Given the description of an element on the screen output the (x, y) to click on. 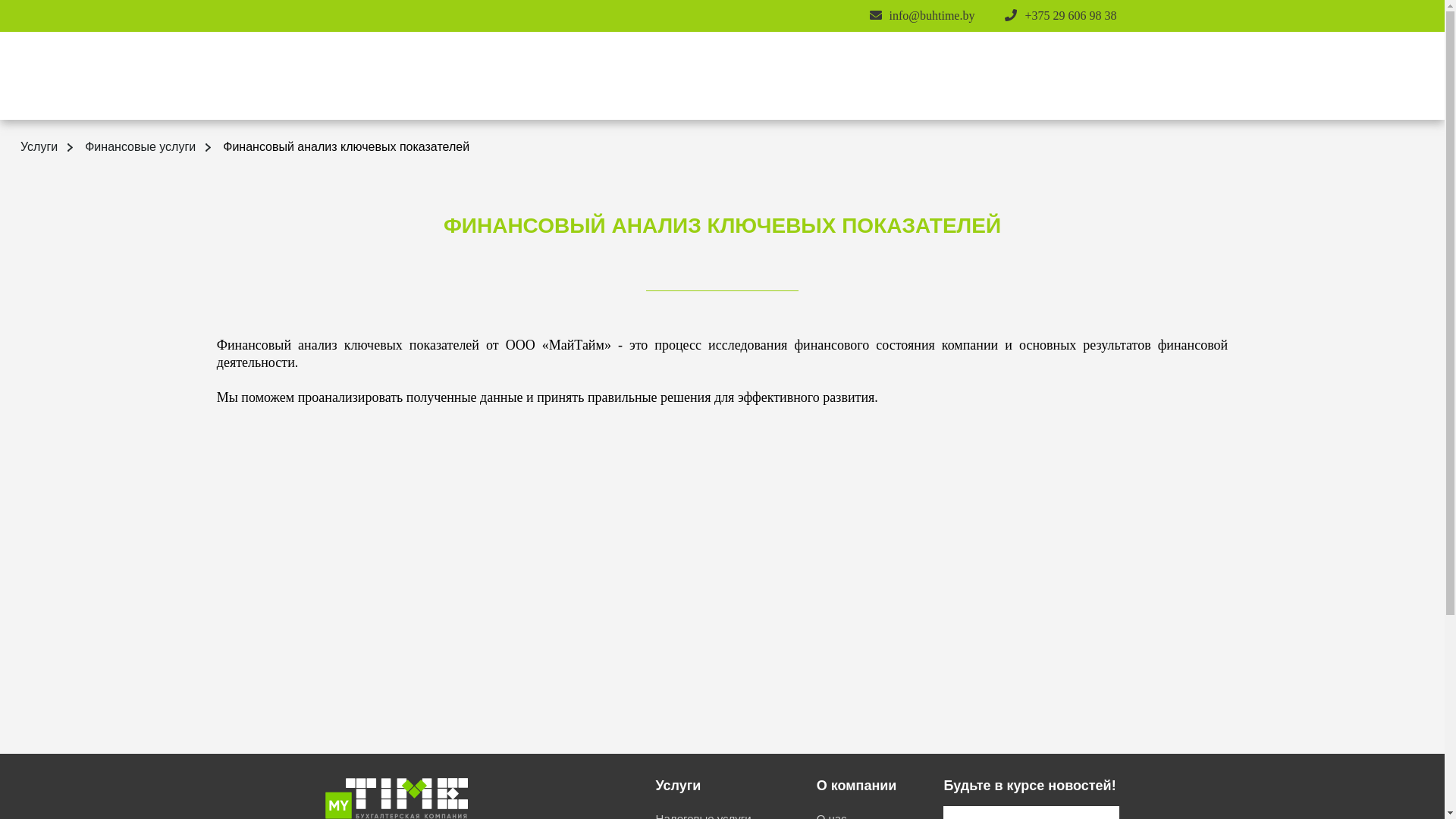
info@buhtime.by Element type: text (932, 15)
+375 29 606 98 38 Element type: text (1070, 15)
